Given the description of an element on the screen output the (x, y) to click on. 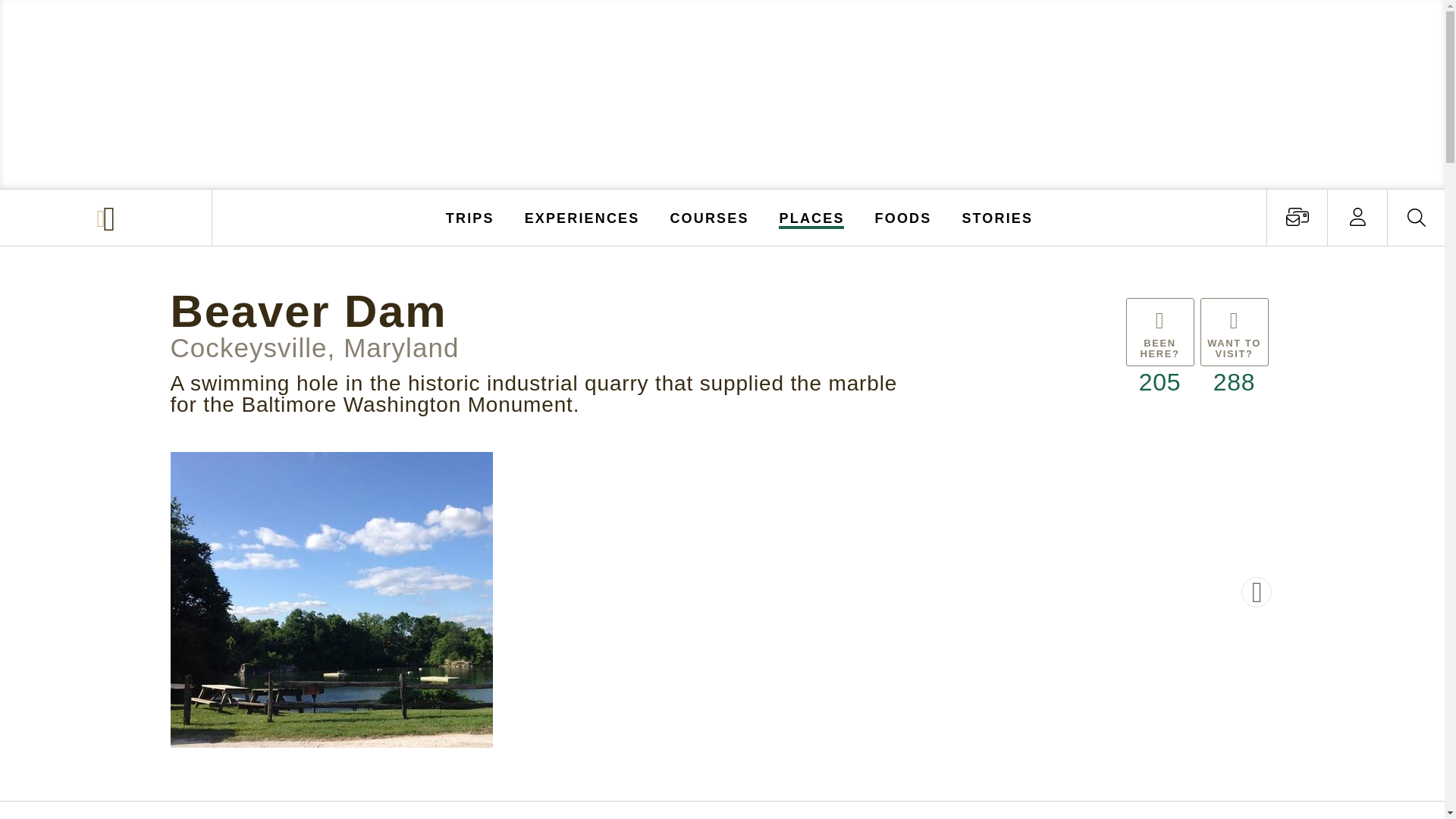
TRIPS (469, 217)
PLACES (812, 217)
COURSES (707, 217)
EXPERIENCES (582, 217)
